Given the description of an element on the screen output the (x, y) to click on. 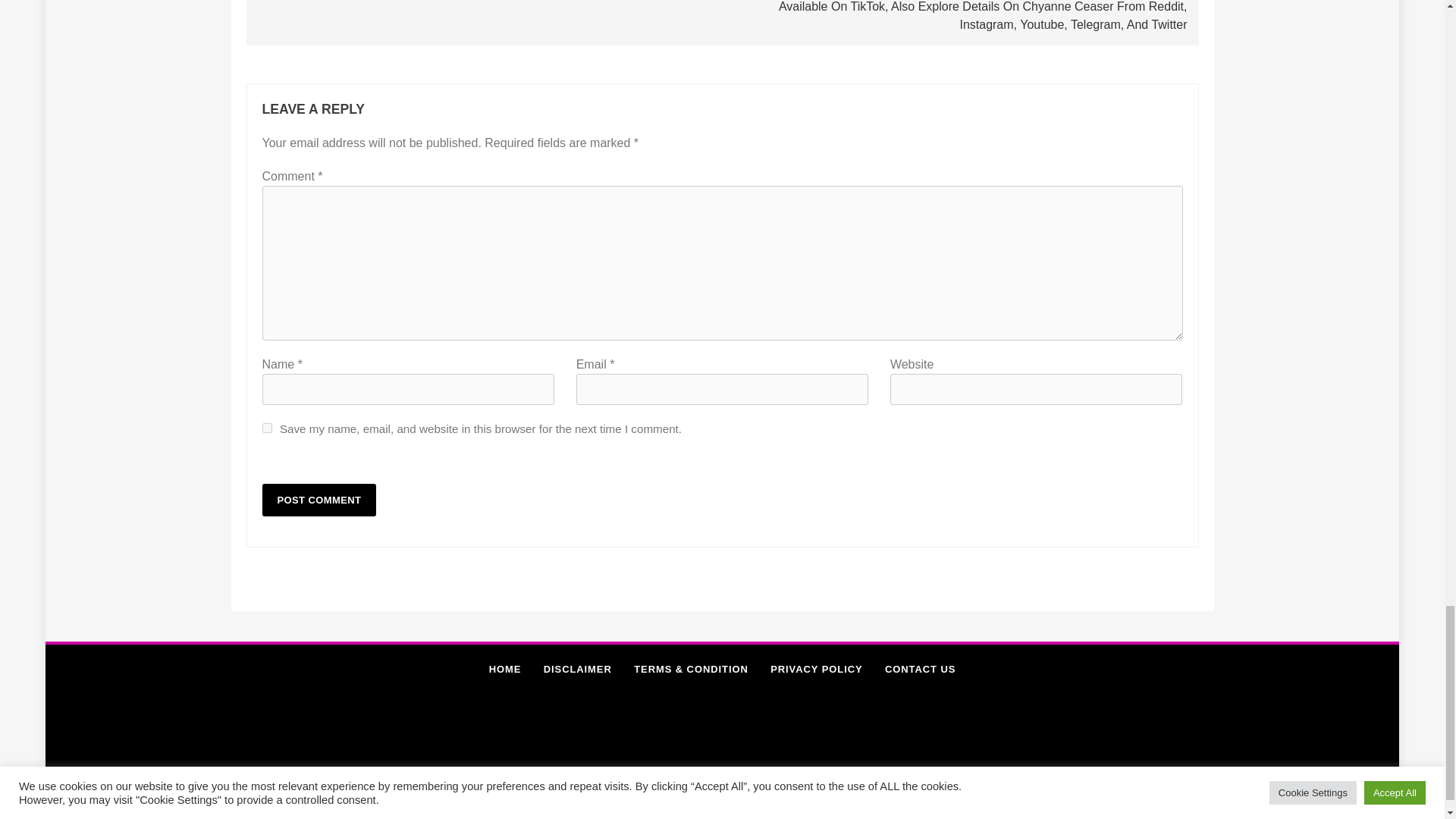
Post Comment (319, 500)
yes (267, 428)
Post Comment (319, 500)
DMCA.com Protection Status (819, 810)
